Given the description of an element on the screen output the (x, y) to click on. 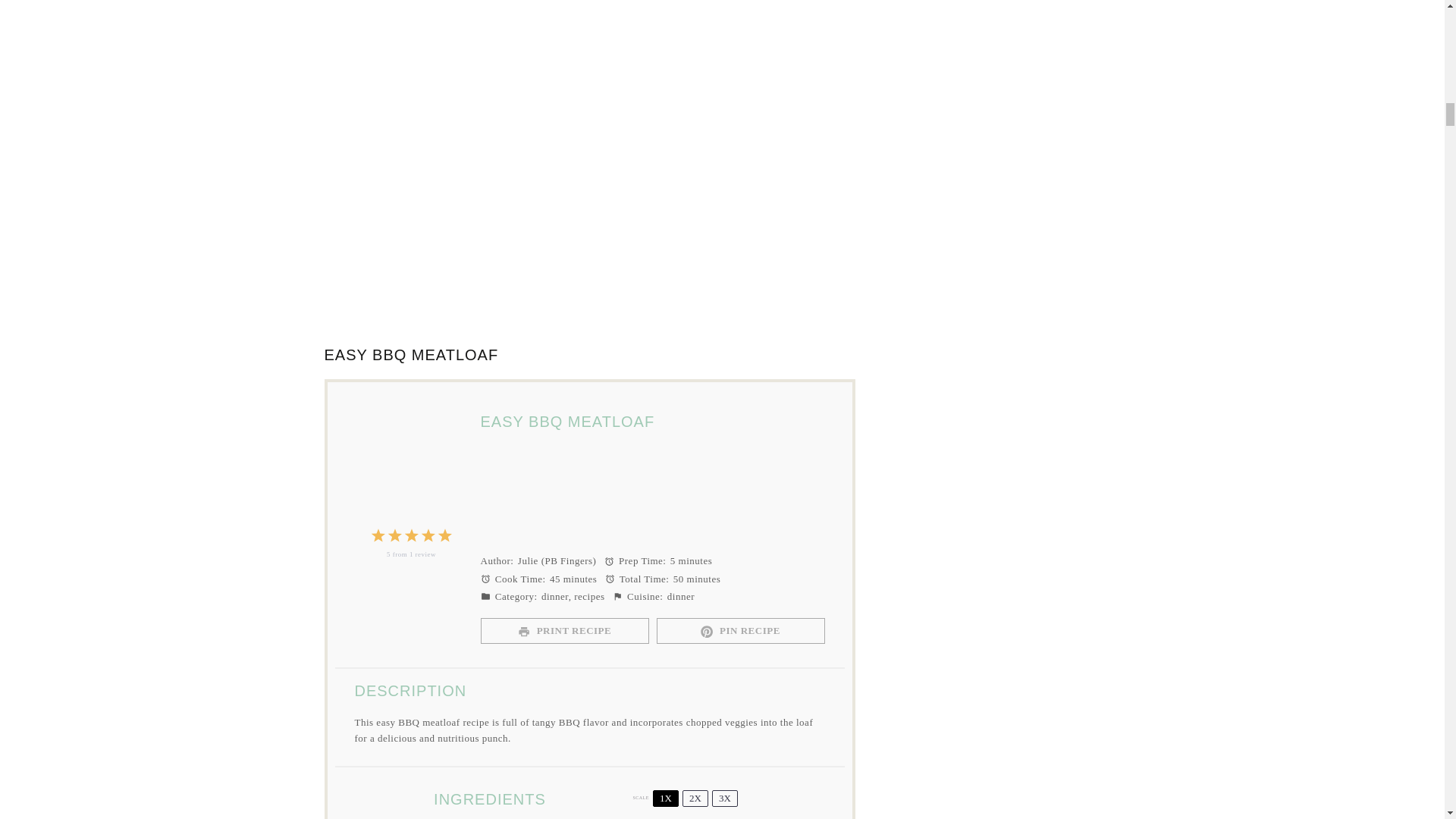
PIN RECIPE (740, 630)
2X (694, 798)
1X (665, 798)
3X (724, 798)
PRINT RECIPE (564, 630)
